Given the description of an element on the screen output the (x, y) to click on. 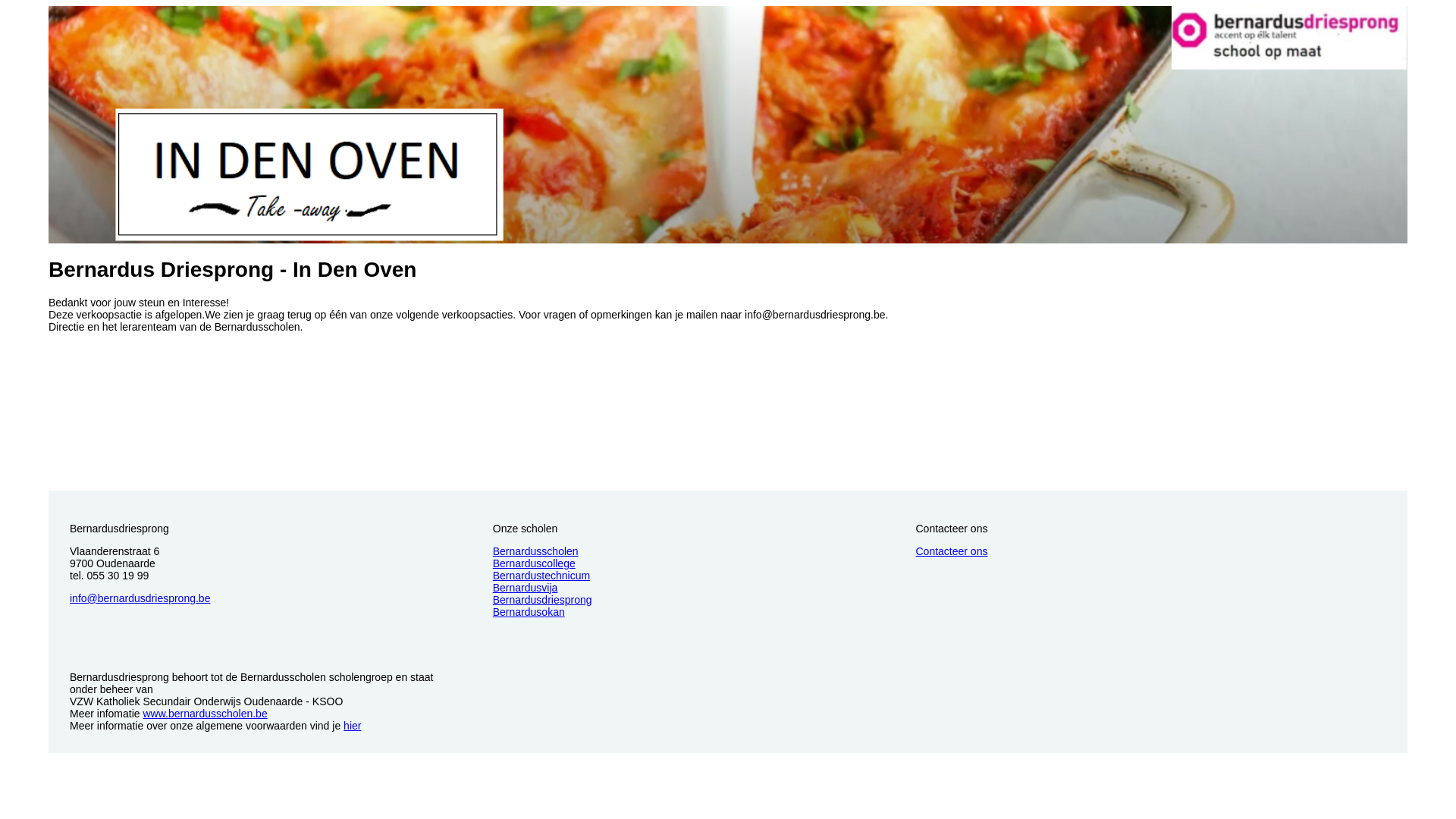
info@bernardusdriesprong.be Element type: text (139, 598)
Bernardusokan Element type: text (528, 611)
hier Element type: text (351, 725)
Bernardusscholen Element type: text (535, 551)
Bernardusdriesprong Element type: text (542, 599)
Bernardusvija Element type: text (525, 587)
Contacteer ons Element type: text (952, 551)
Bernardustechnicum Element type: text (540, 575)
www.bernardusscholen.be Element type: text (204, 713)
Bernarduscollege Element type: text (533, 563)
